Given the description of an element on the screen output the (x, y) to click on. 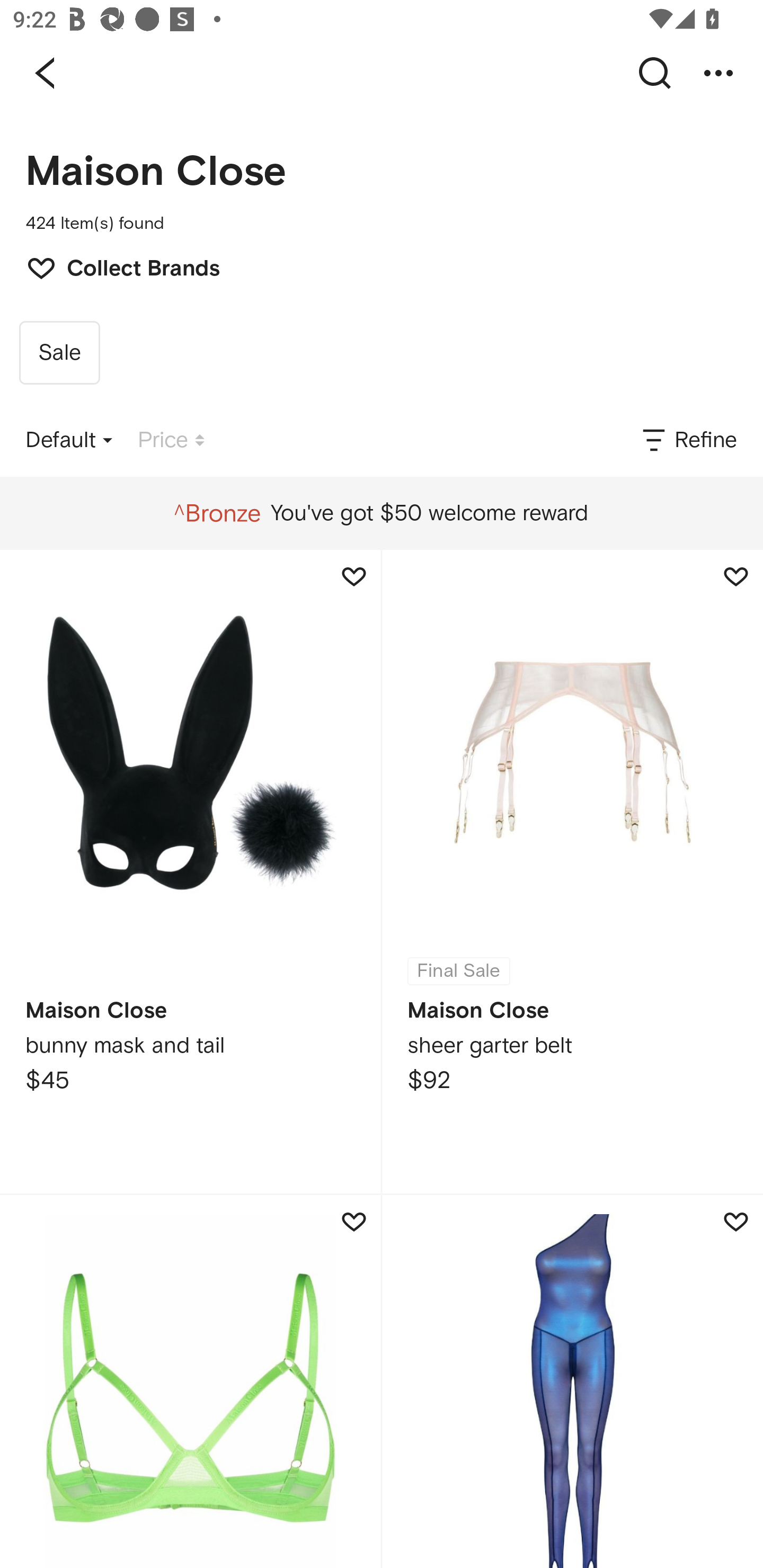
Collect Brands (114, 266)
Sale (59, 352)
Default (68, 440)
Price (171, 440)
Refine (688, 440)
You've got $50 welcome reward (381, 513)
Maison Close bunny mask and tail  $45 (190, 871)
Final Sale Maison Close sheer garter belt $92 (572, 871)
